Given the description of an element on the screen output the (x, y) to click on. 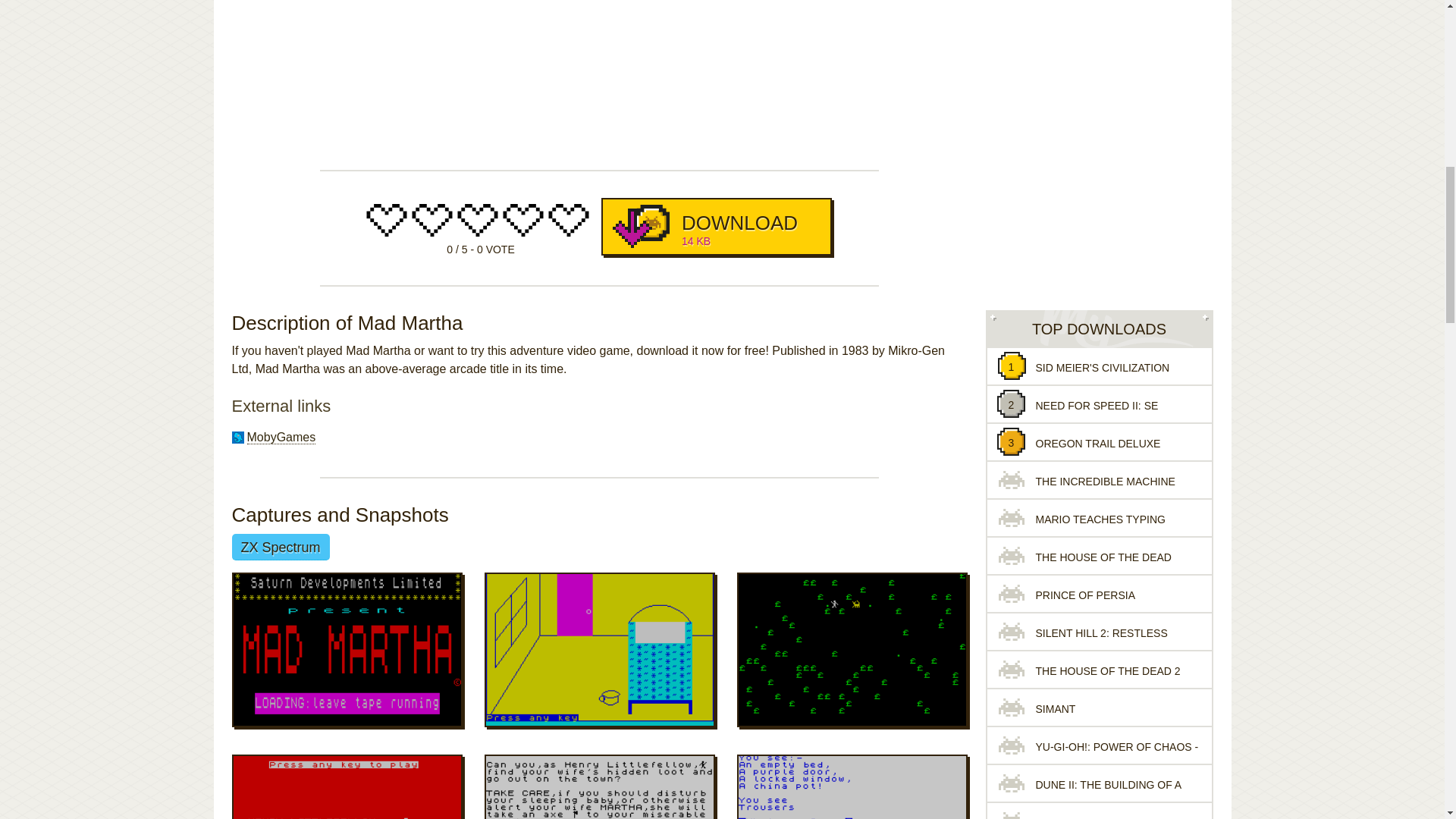
ZX Spectrum (280, 546)
MobyGames (716, 226)
